Given the description of an element on the screen output the (x, y) to click on. 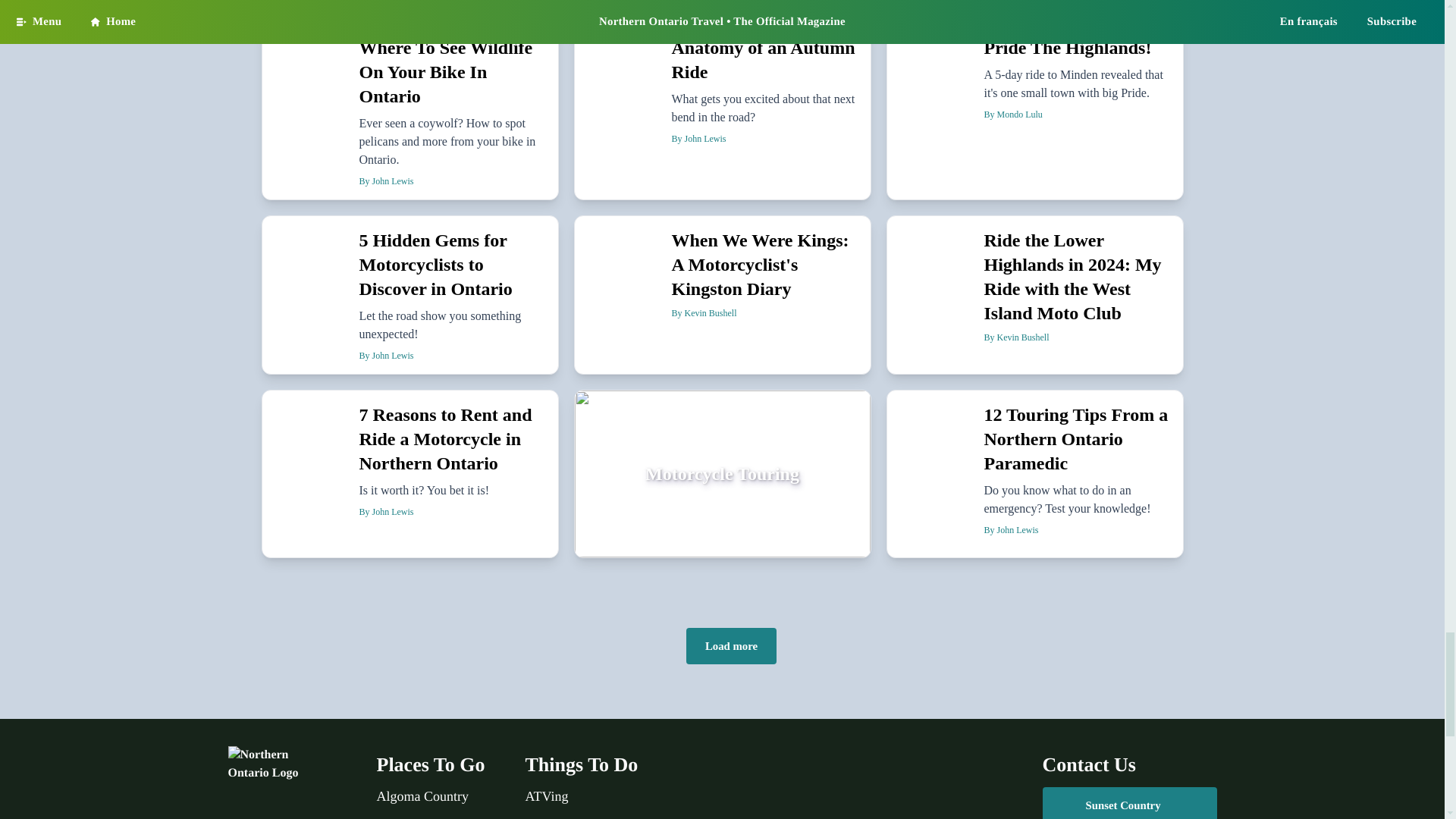
Load more (730, 646)
